Given the description of an element on the screen output the (x, y) to click on. 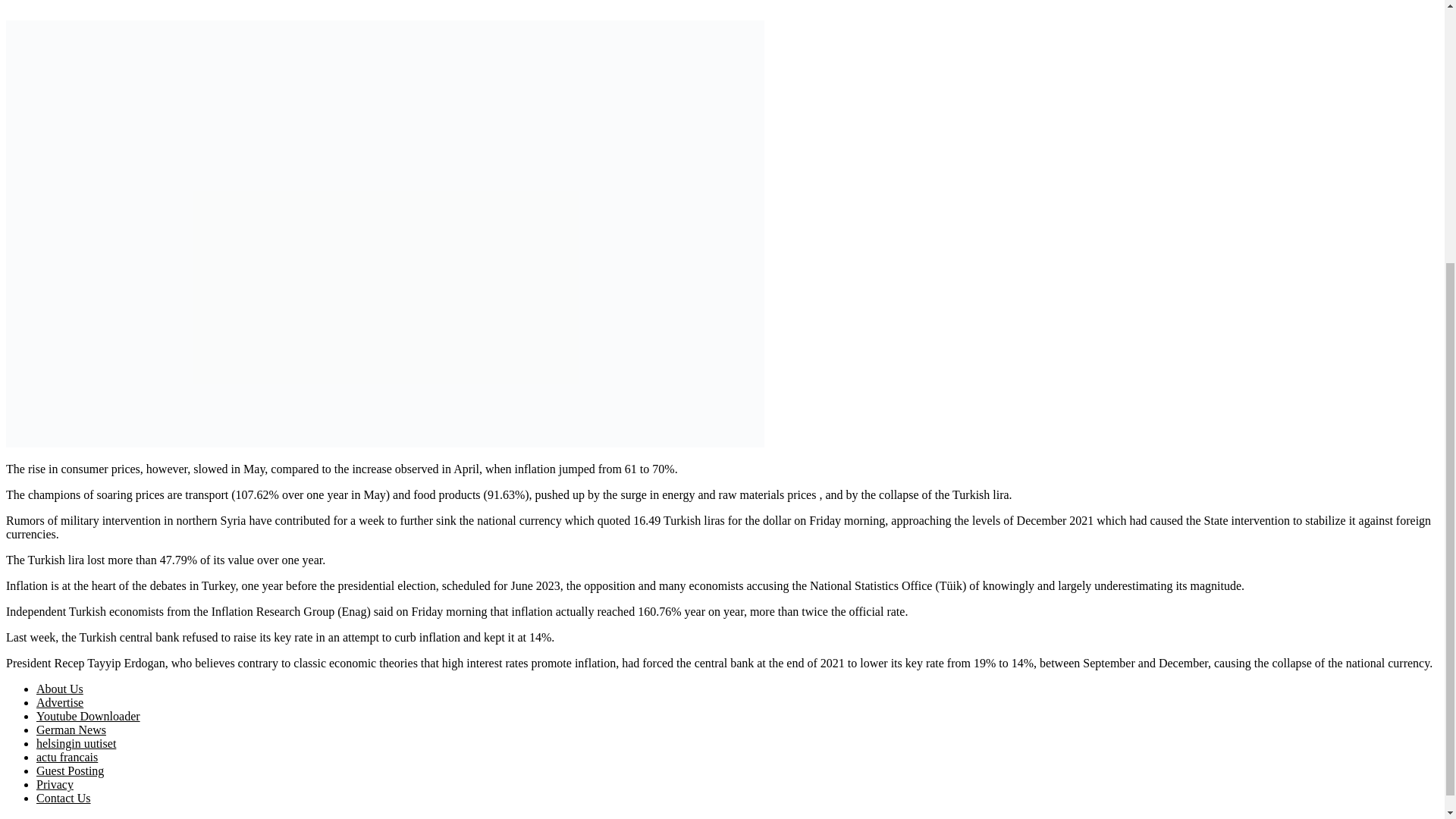
helsingin uutiset (76, 743)
Advertise (59, 702)
Youtube Downloader (87, 716)
About Us (59, 688)
German News (71, 729)
Privacy (55, 784)
Guest Posting (69, 770)
Contact Us (63, 797)
actu francais (66, 757)
